Given the description of an element on the screen output the (x, y) to click on. 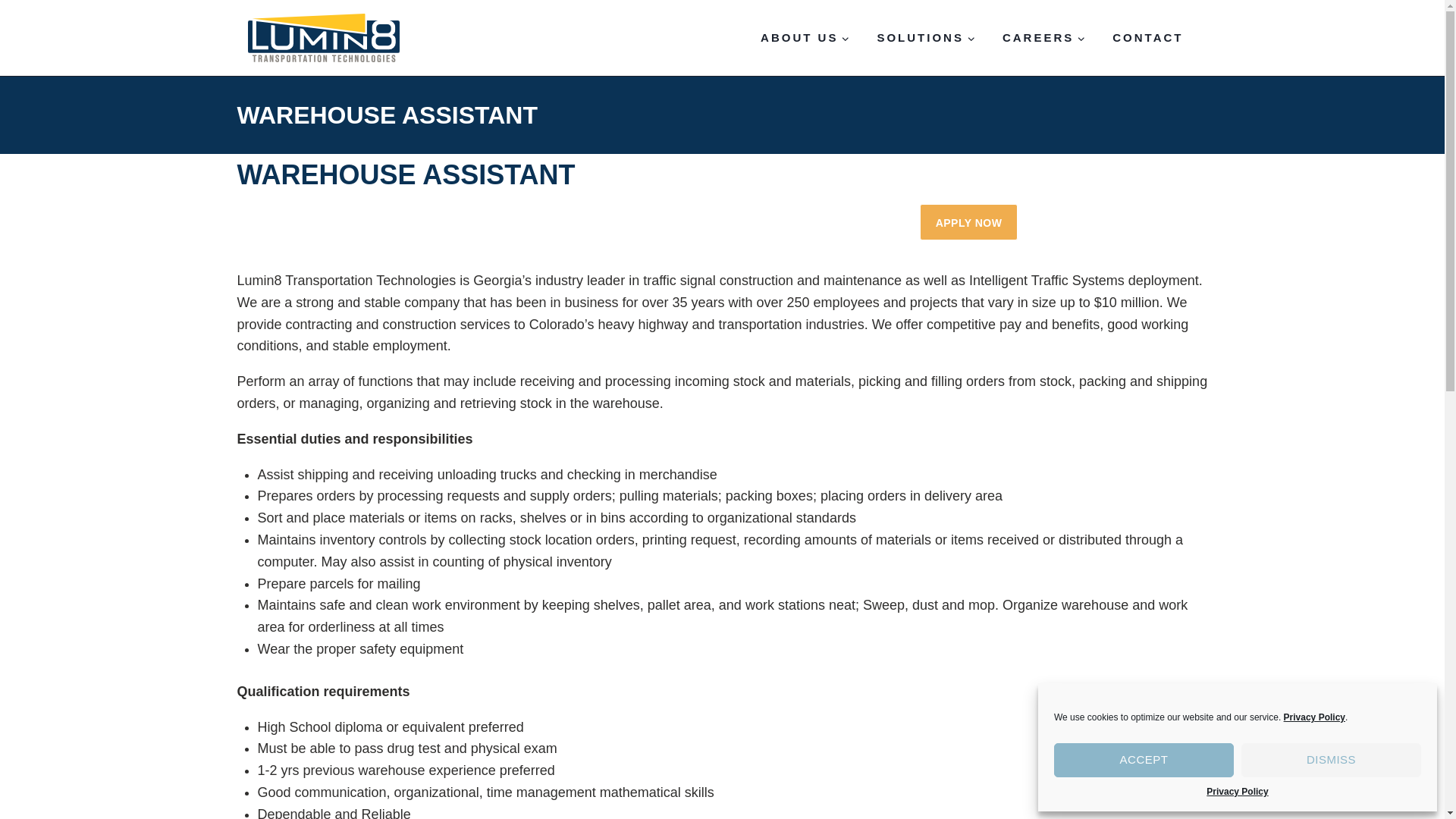
APPLY NOW (968, 221)
Privacy Policy (1314, 716)
Privacy Policy (1237, 791)
ACCEPT (1143, 759)
ABOUT US (804, 38)
CONTACT (1147, 38)
SOLUTIONS (925, 38)
CAREERS (1043, 38)
DISMISS (1331, 759)
